Given the description of an element on the screen output the (x, y) to click on. 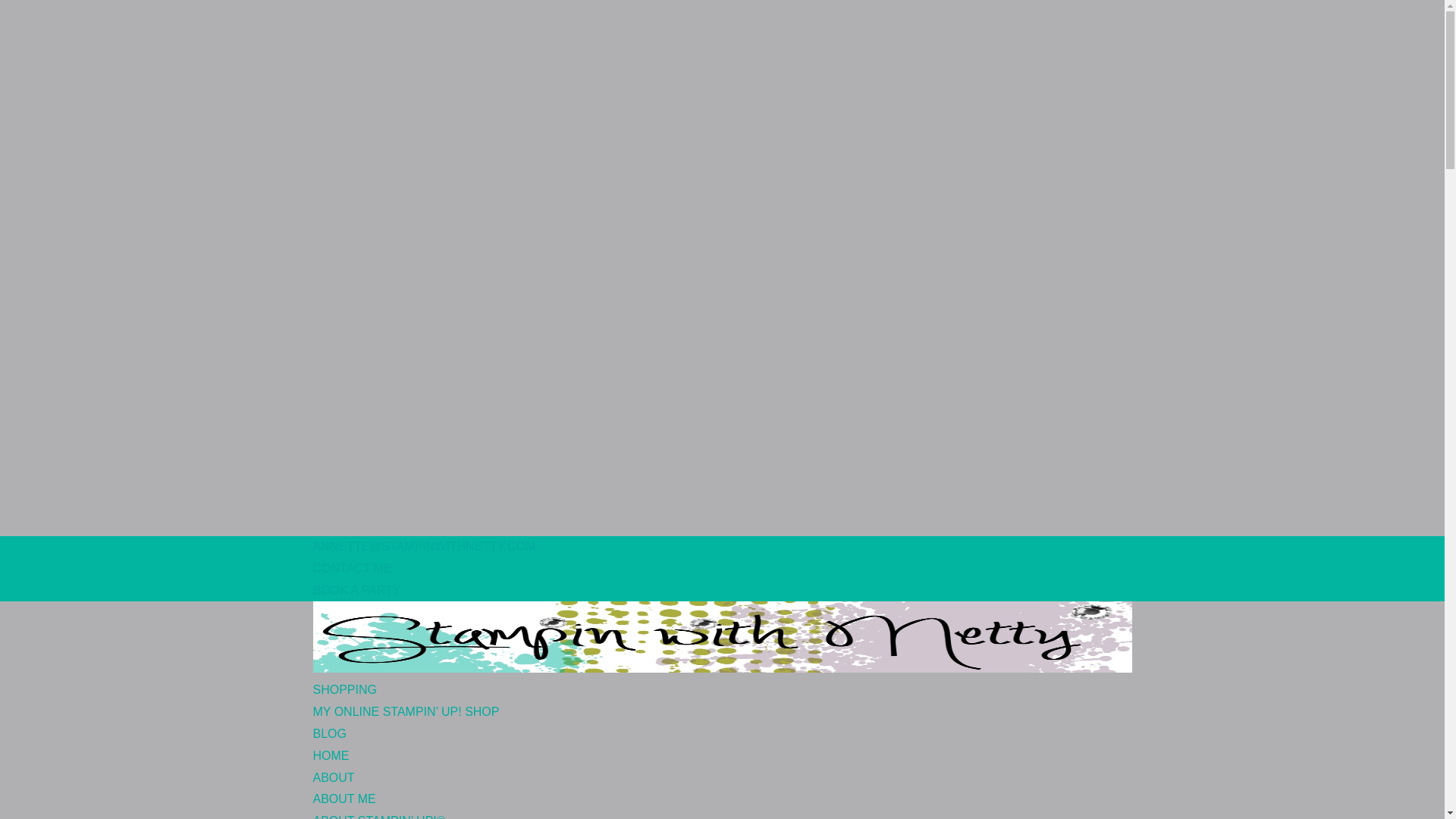
BOOK A PARTY (356, 590)
SHOPPING (344, 696)
CONTACT ME (352, 567)
HOME (331, 762)
BLOG (329, 740)
ABOUT (333, 784)
ABOUT ME (344, 798)
